Given the description of an element on the screen output the (x, y) to click on. 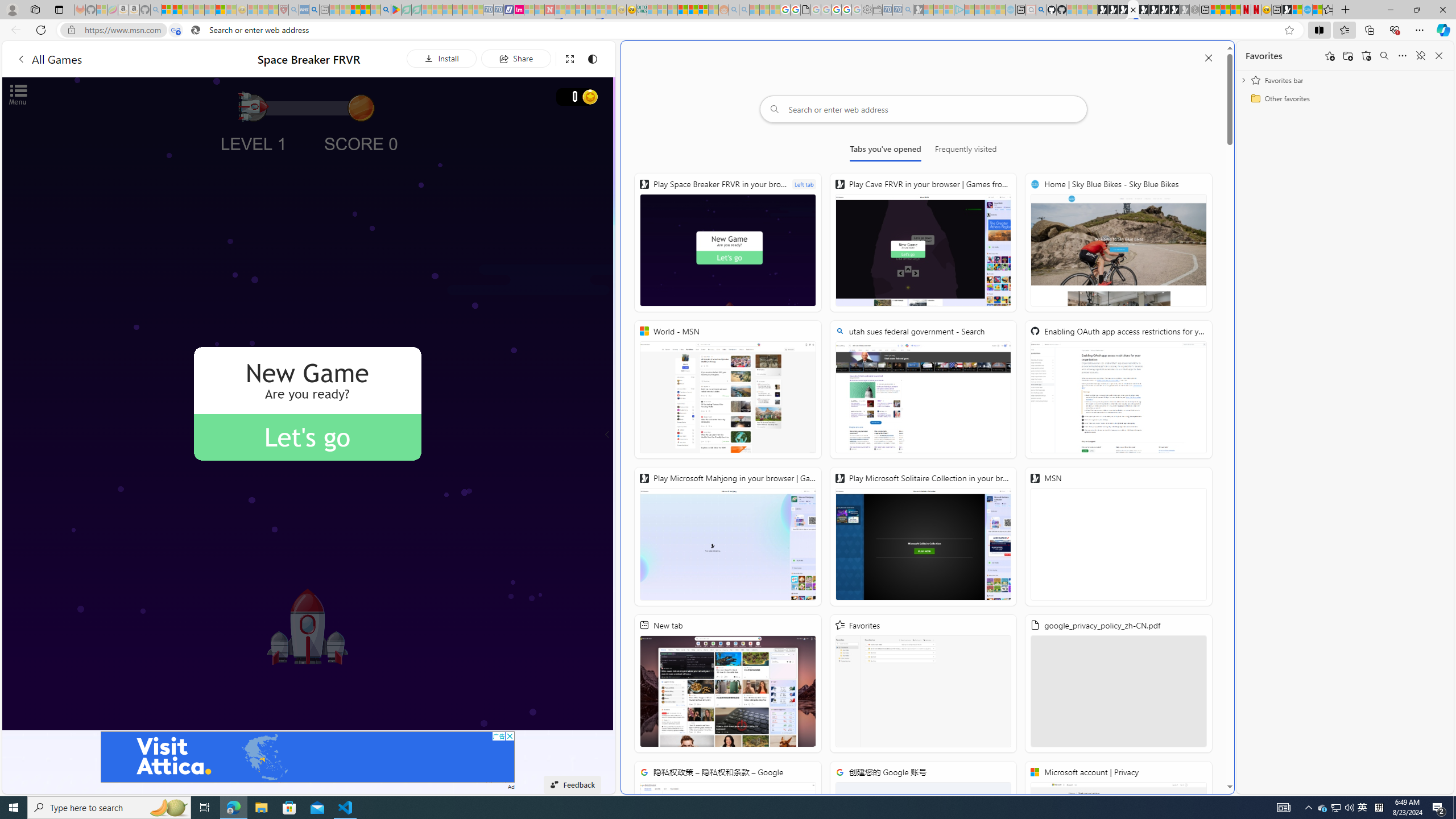
Settings - Sleeping (866, 9)
Unpin favorites (1420, 55)
Tabs you've opened (885, 151)
Install (441, 58)
